Given the description of an element on the screen output the (x, y) to click on. 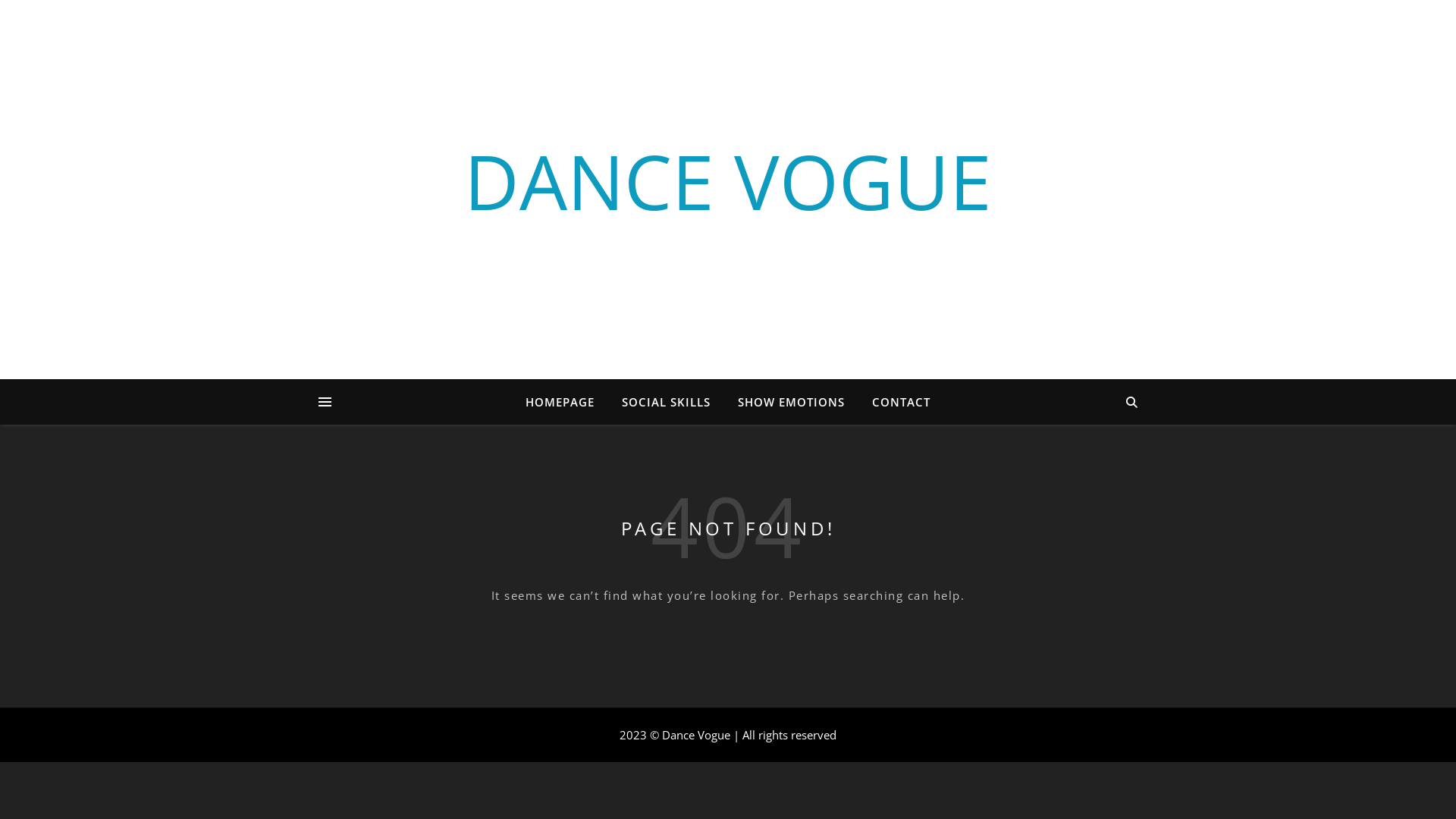
SOCIAL SKILLS Element type: text (665, 401)
CONTACT Element type: text (894, 401)
HOMEPAGE Element type: text (565, 401)
SHOW EMOTIONS Element type: text (790, 401)
